Given the description of an element on the screen output the (x, y) to click on. 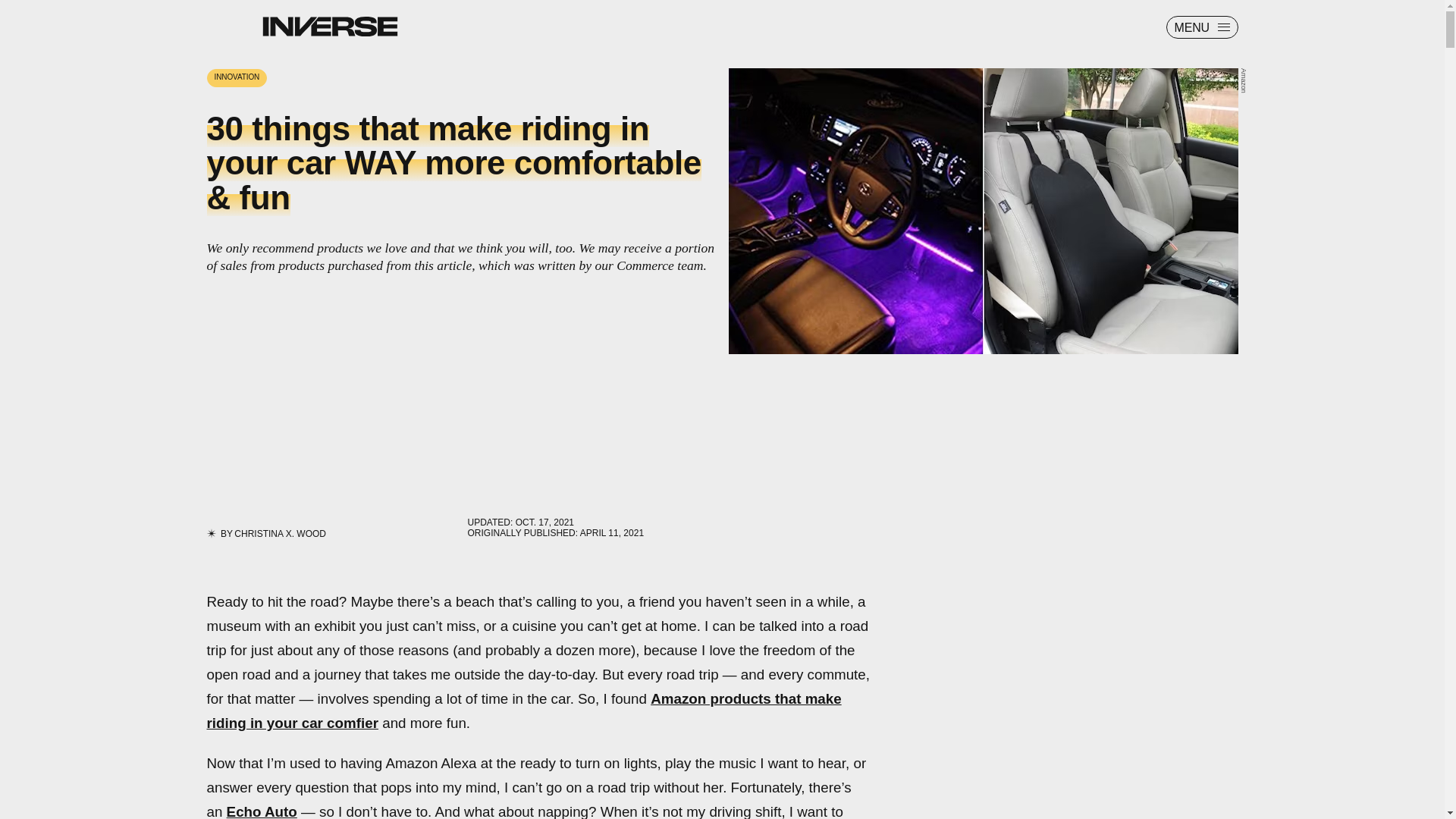
Echo Auto (262, 811)
Amazon products that make riding in your car comfier (523, 711)
Inverse (328, 26)
